Given the description of an element on the screen output the (x, y) to click on. 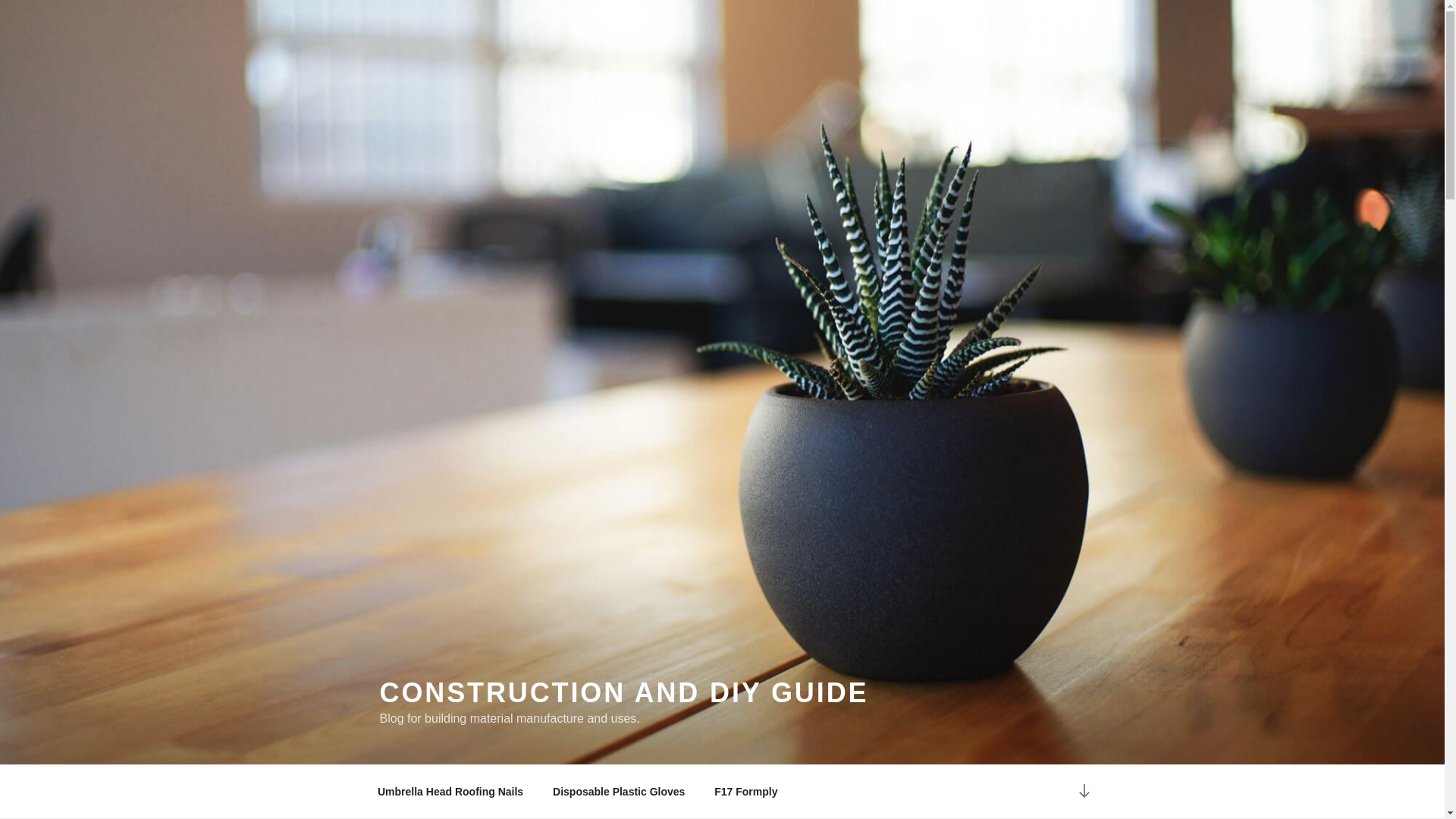
CONSTRUCTION AND DIY GUIDE (622, 692)
Scroll down to content (1082, 791)
Umbrella Head Roofing Nails (449, 791)
Scroll down to content (1082, 791)
Disposable Plastic Gloves (619, 791)
F17 Formply (745, 791)
